Given the description of an element on the screen output the (x, y) to click on. 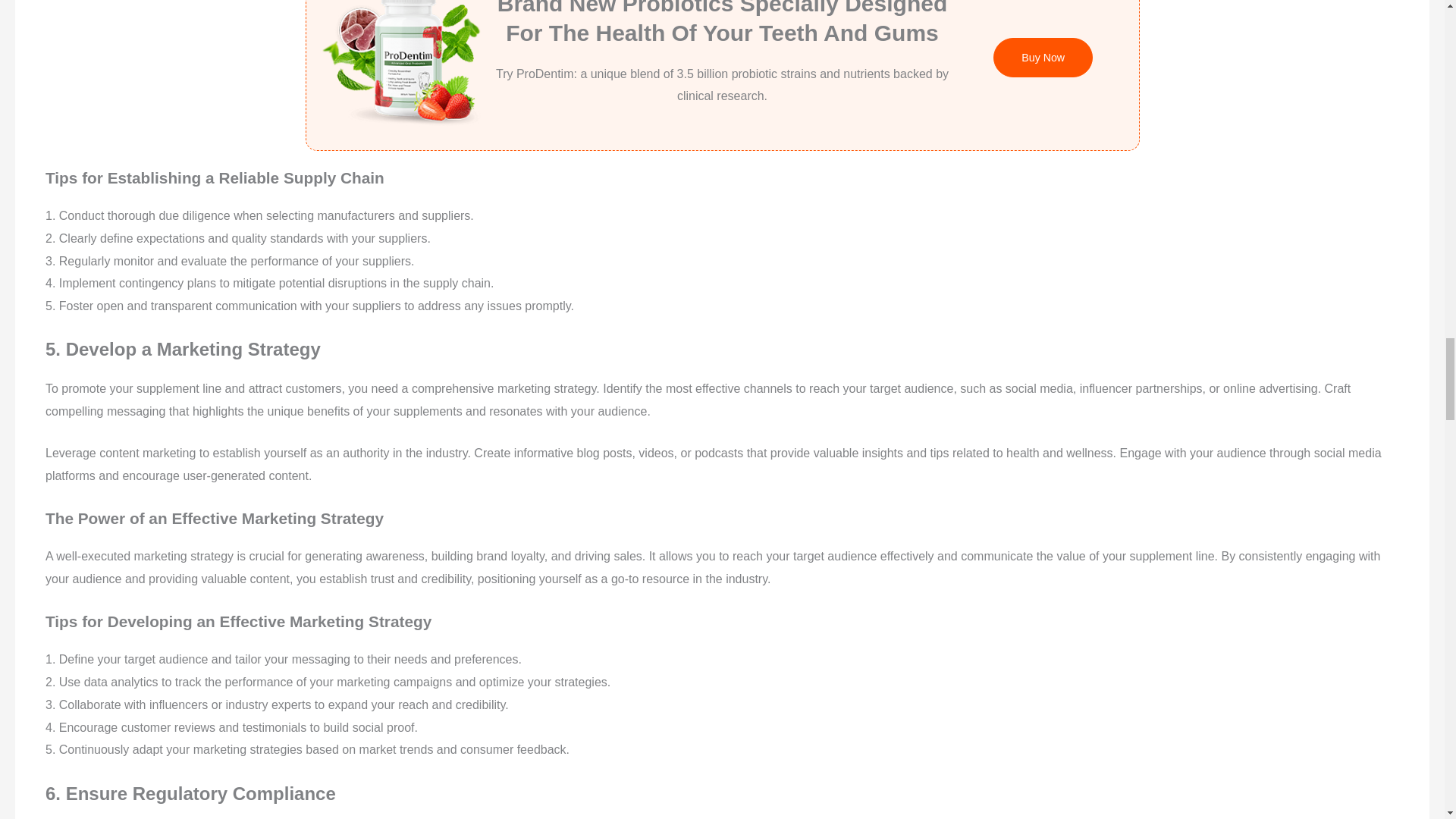
Buy Now (1042, 56)
